Given the description of an element on the screen output the (x, y) to click on. 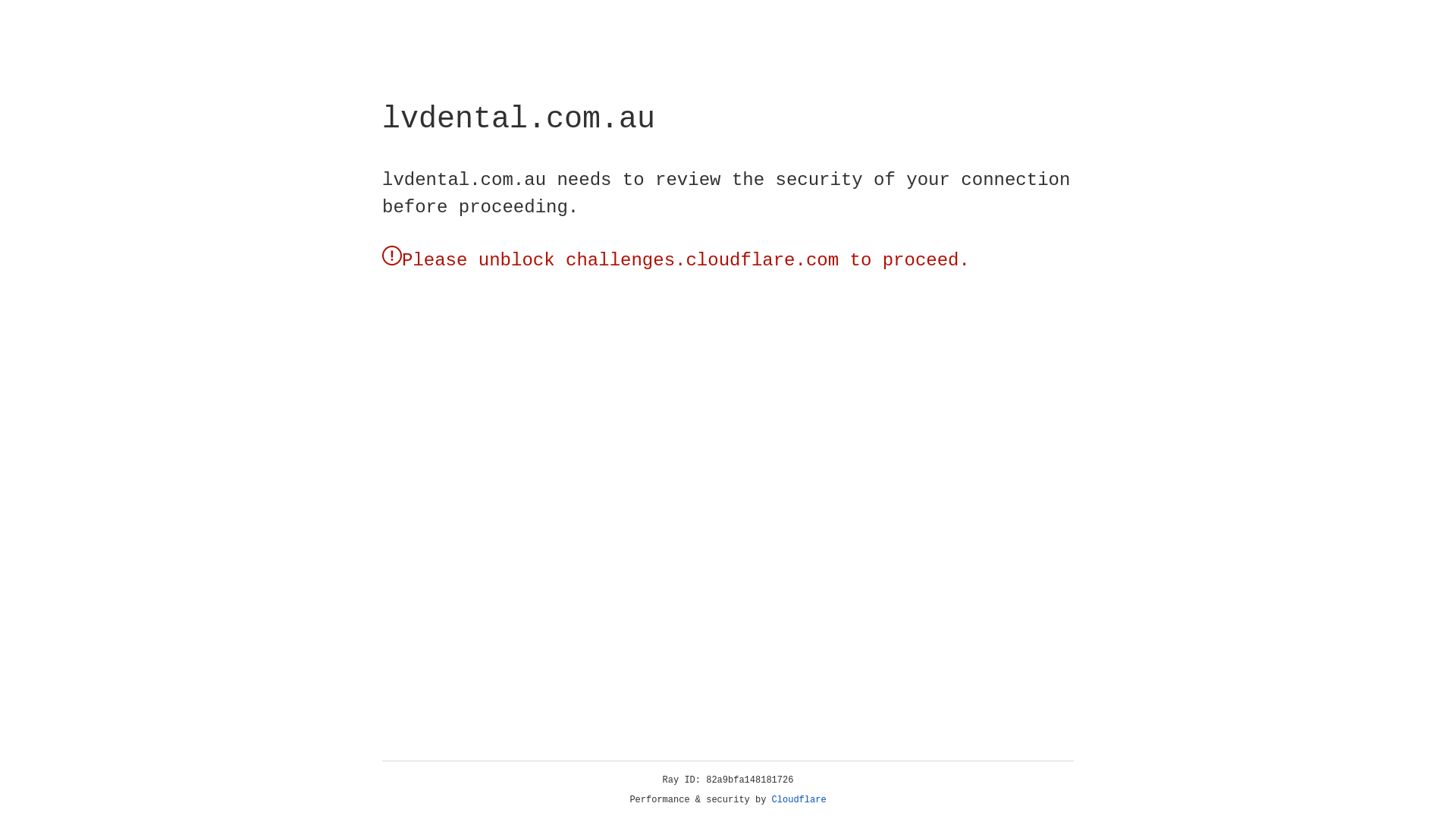
Cloudflare Element type: text (798, 799)
